Given the description of an element on the screen output the (x, y) to click on. 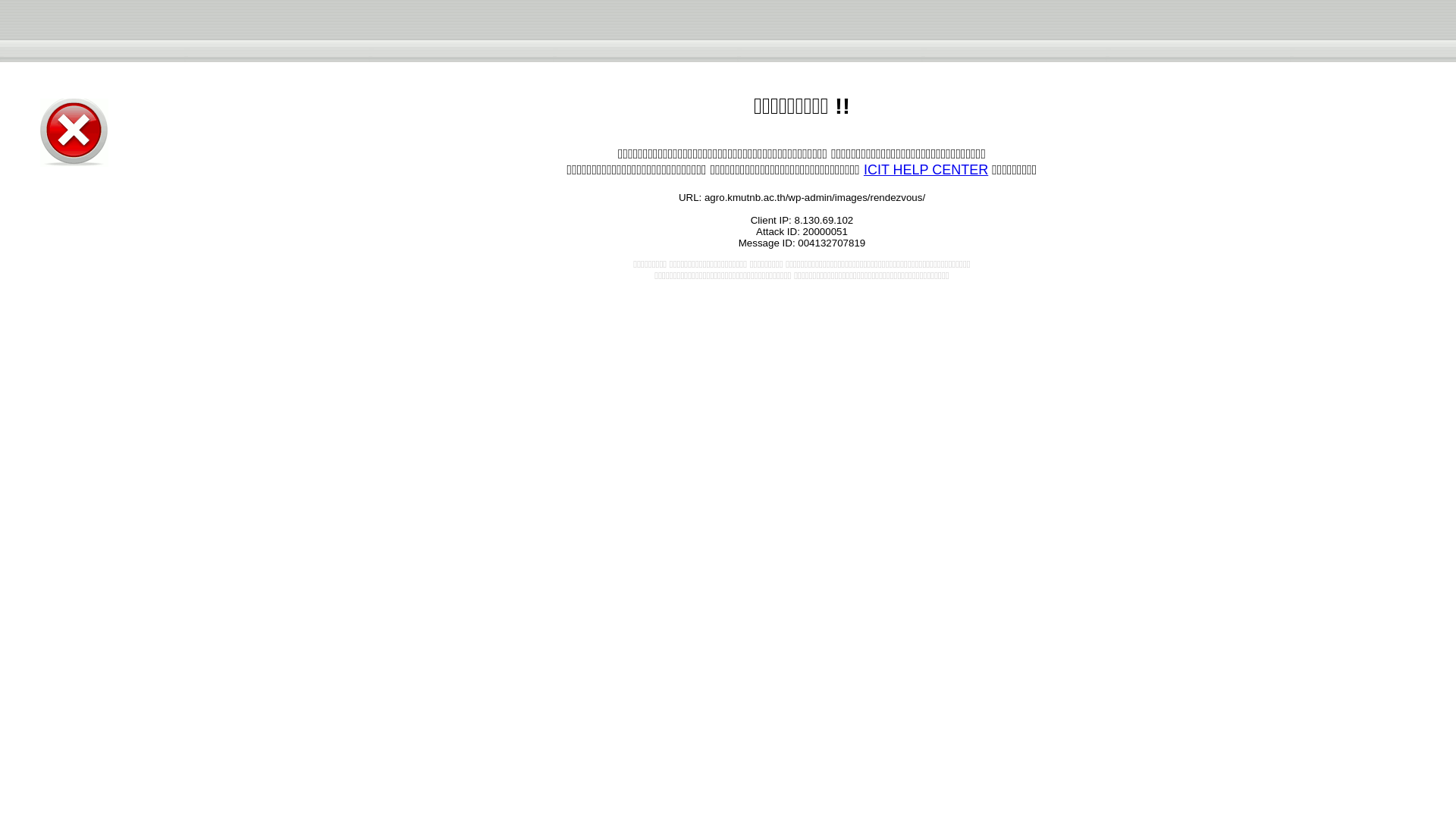
ICIT HELP CENTER (925, 169)
